Given the description of an element on the screen output the (x, y) to click on. 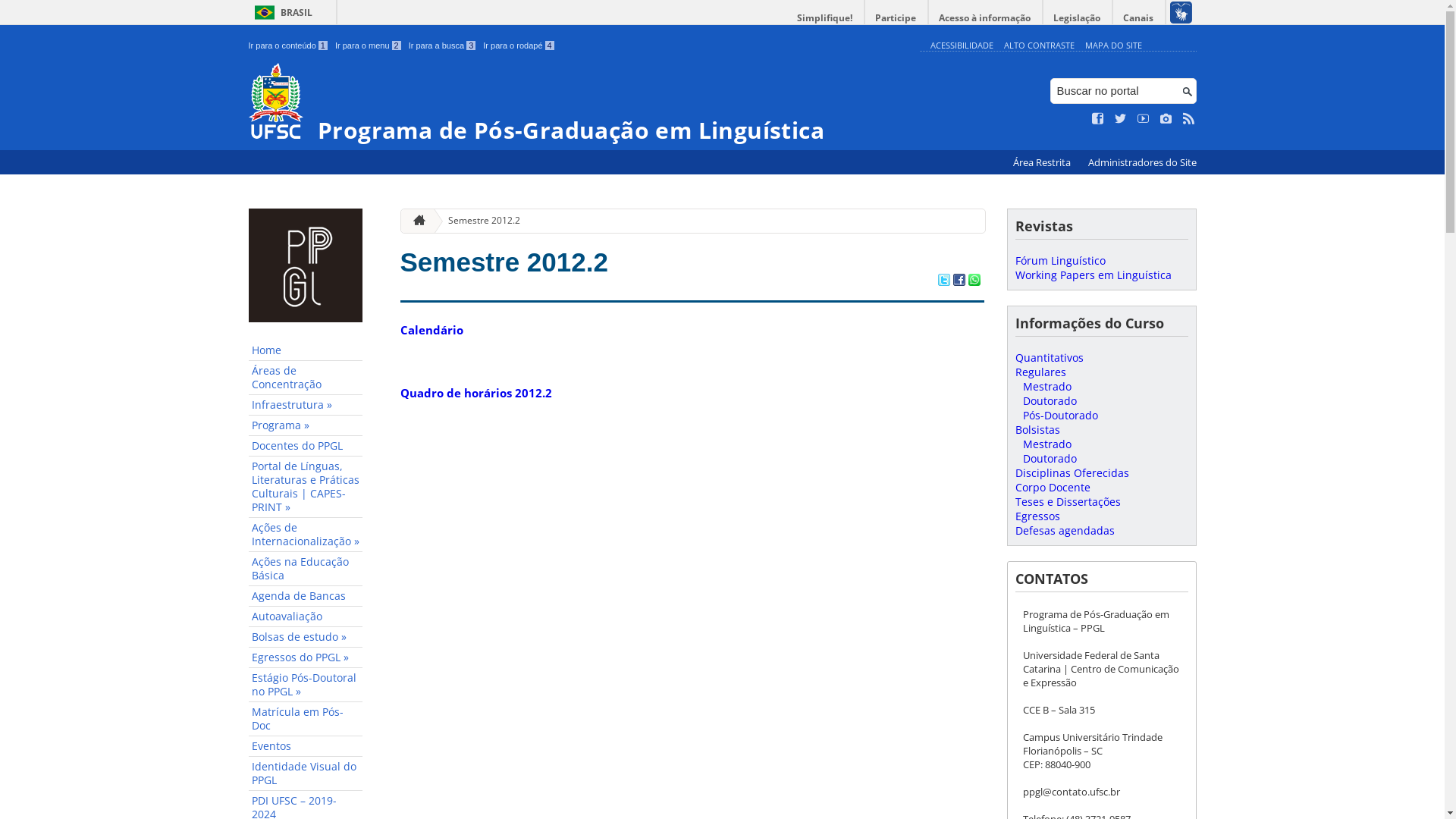
Compartilhar no Twitter Element type: hover (943, 280)
Disciplinas Oferecidas Element type: text (1071, 472)
Veja no Instagram Element type: hover (1166, 118)
Simplifique! Element type: text (825, 18)
Mestrado Element type: text (1046, 386)
Siga no Twitter Element type: hover (1120, 118)
Ir para o menu 2 Element type: text (368, 45)
Administradores do Site Element type: text (1141, 162)
Semestre 2012.2 Element type: text (477, 220)
Identidade Visual do PPGL Element type: text (305, 773)
Mestrado Element type: text (1046, 443)
Compartilhar no WhatsApp Element type: hover (973, 280)
Compartilhar no Facebook Element type: hover (958, 280)
Eventos Element type: text (305, 746)
Defesas agendadas Element type: text (1063, 530)
Curta no Facebook Element type: hover (1098, 118)
Canais Element type: text (1138, 18)
MAPA DO SITE Element type: text (1112, 44)
Bolsistas Element type: text (1036, 429)
Participe Element type: text (895, 18)
Quantitativos Element type: text (1048, 357)
ACESSIBILIDADE Element type: text (960, 44)
Home Element type: text (305, 350)
ALTO CONTRASTE Element type: text (1039, 44)
Doutorado Element type: text (1049, 458)
Agenda de Bancas Element type: text (305, 596)
Regulares Element type: text (1039, 371)
Doutorado Element type: text (1049, 400)
Egressos Element type: text (1036, 515)
Corpo Docente Element type: text (1051, 487)
Ir para a busca 3 Element type: text (442, 45)
Semestre 2012.2 Element type: text (504, 261)
BRASIL Element type: text (280, 12)
Docentes do PPGL Element type: text (305, 446)
